Given the description of an element on the screen output the (x, y) to click on. 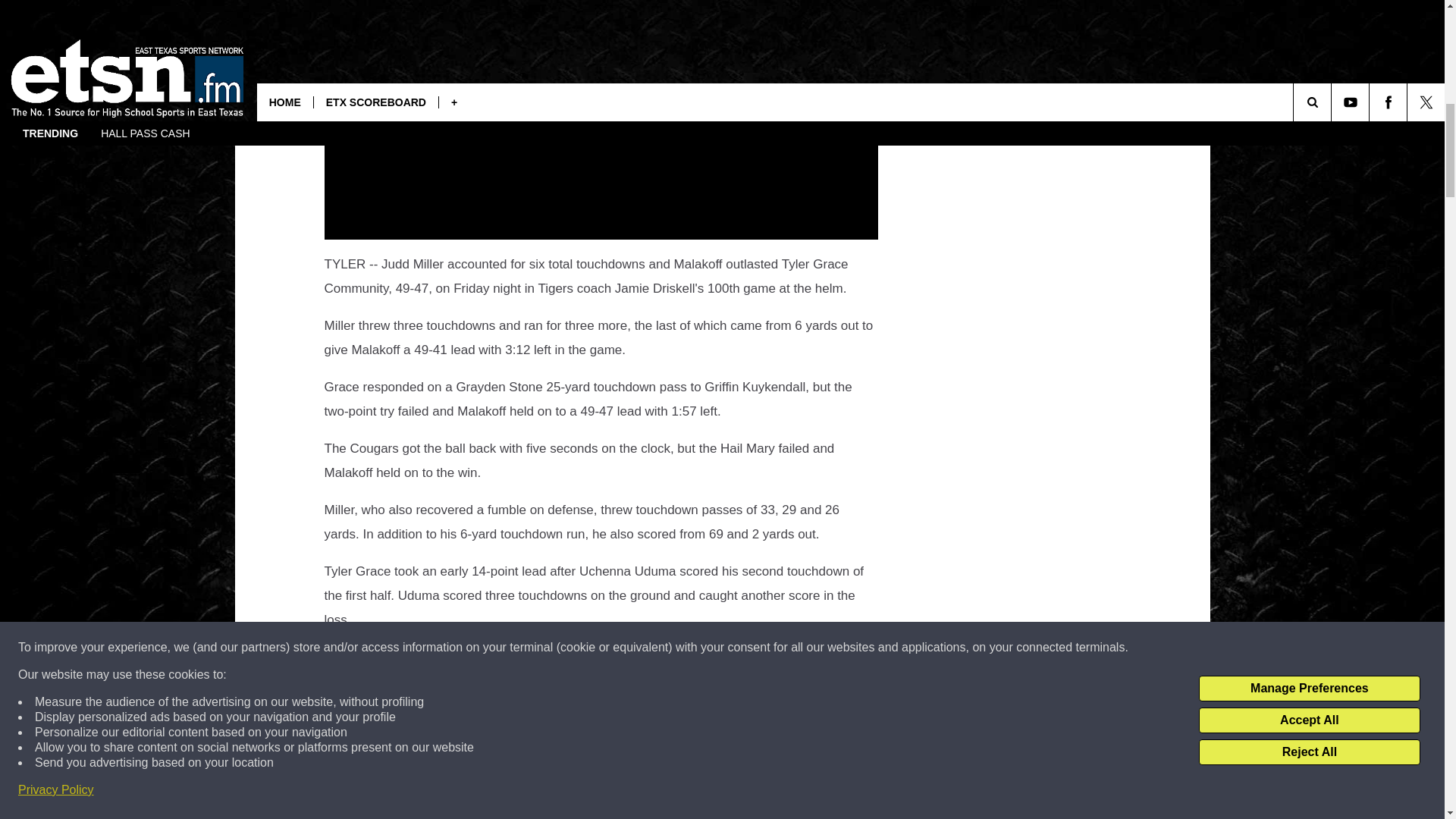
Class 3A (406, 804)
News (490, 804)
2017 Week 4 Games (437, 779)
Tyler Grace Community (639, 779)
Malakoff (558, 779)
Football (513, 779)
Football (452, 804)
